Given the description of an element on the screen output the (x, y) to click on. 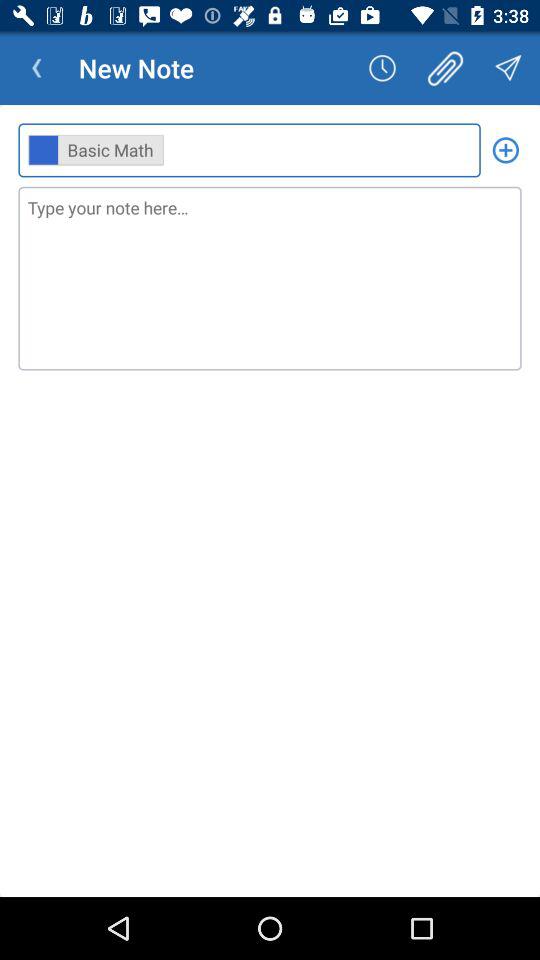
launch the item above the ,,  icon (36, 68)
